Given the description of an element on the screen output the (x, y) to click on. 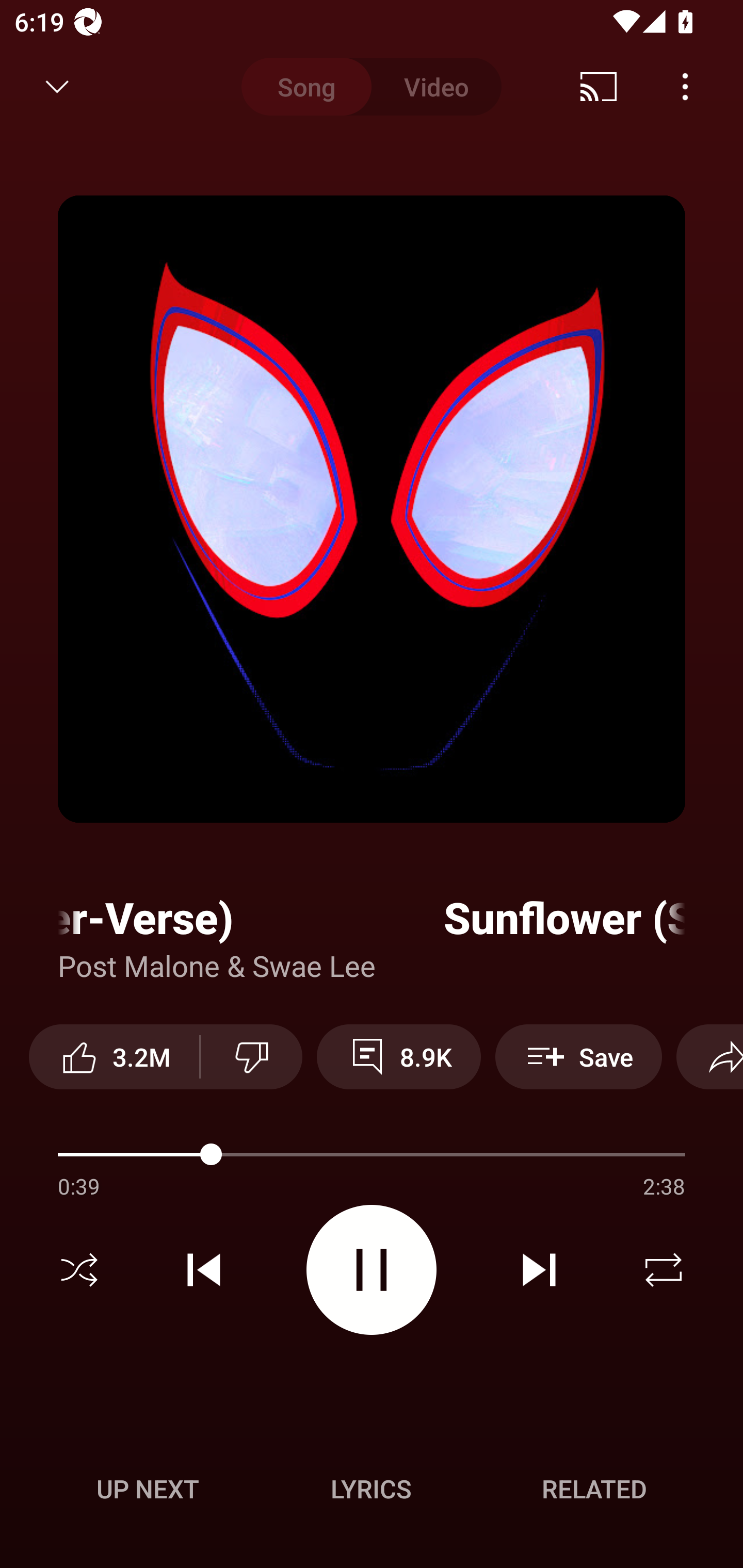
Minimize (57, 86)
Cast. Disconnected (598, 86)
Menu (684, 86)
Dislike (251, 1056)
8.9K View 8,905 comments (398, 1056)
Save Save to playlist (578, 1056)
Share (709, 1056)
Pause video (371, 1269)
Shuffle off (79, 1269)
Previous track (203, 1269)
Next track (538, 1269)
Repeat off (663, 1269)
Up next UP NEXT Lyrics LYRICS Related RELATED (371, 1491)
Lyrics LYRICS (370, 1488)
Related RELATED (594, 1488)
